Given the description of an element on the screen output the (x, y) to click on. 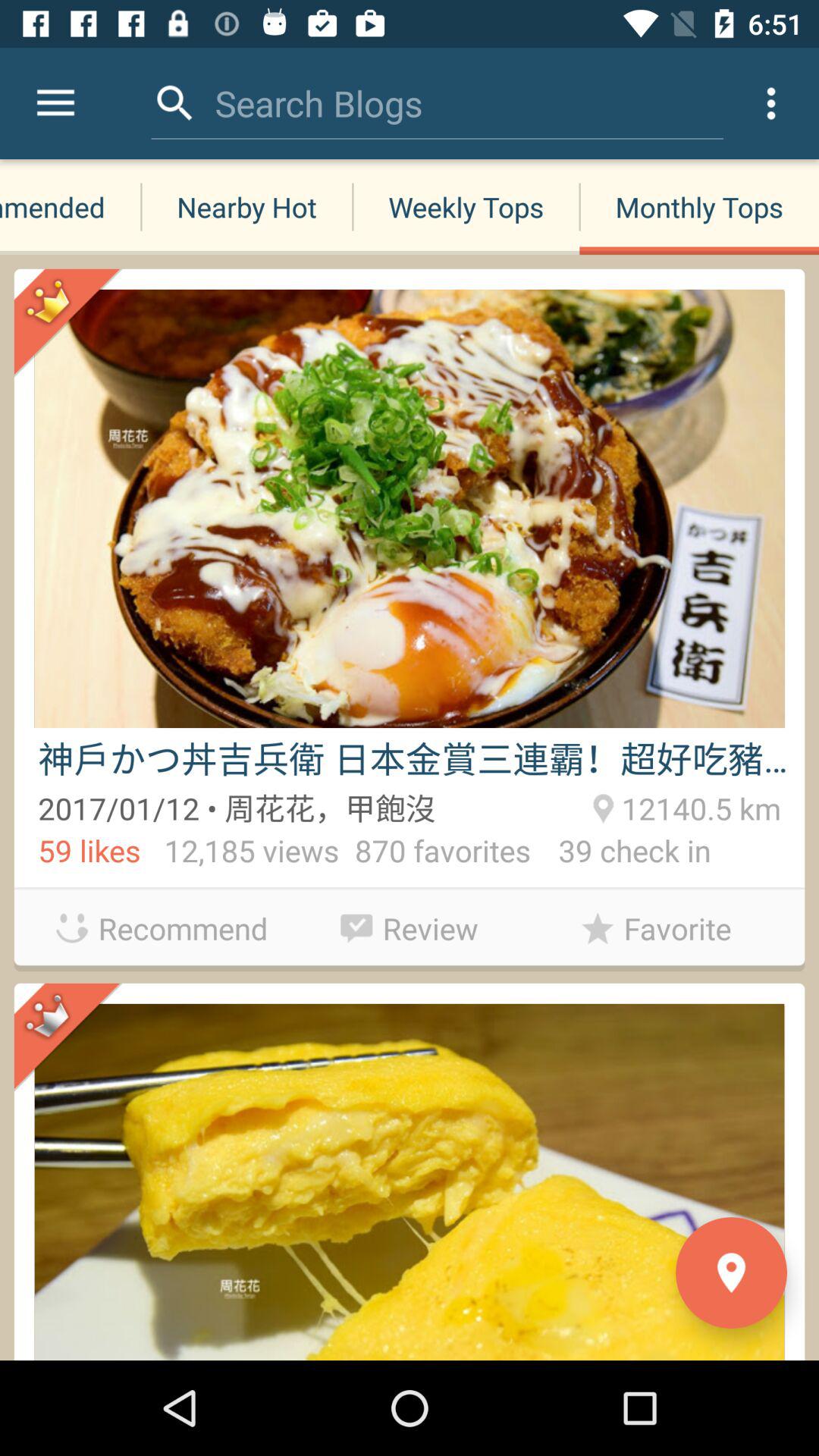
launch the recommend app (161, 928)
